Given the description of an element on the screen output the (x, y) to click on. 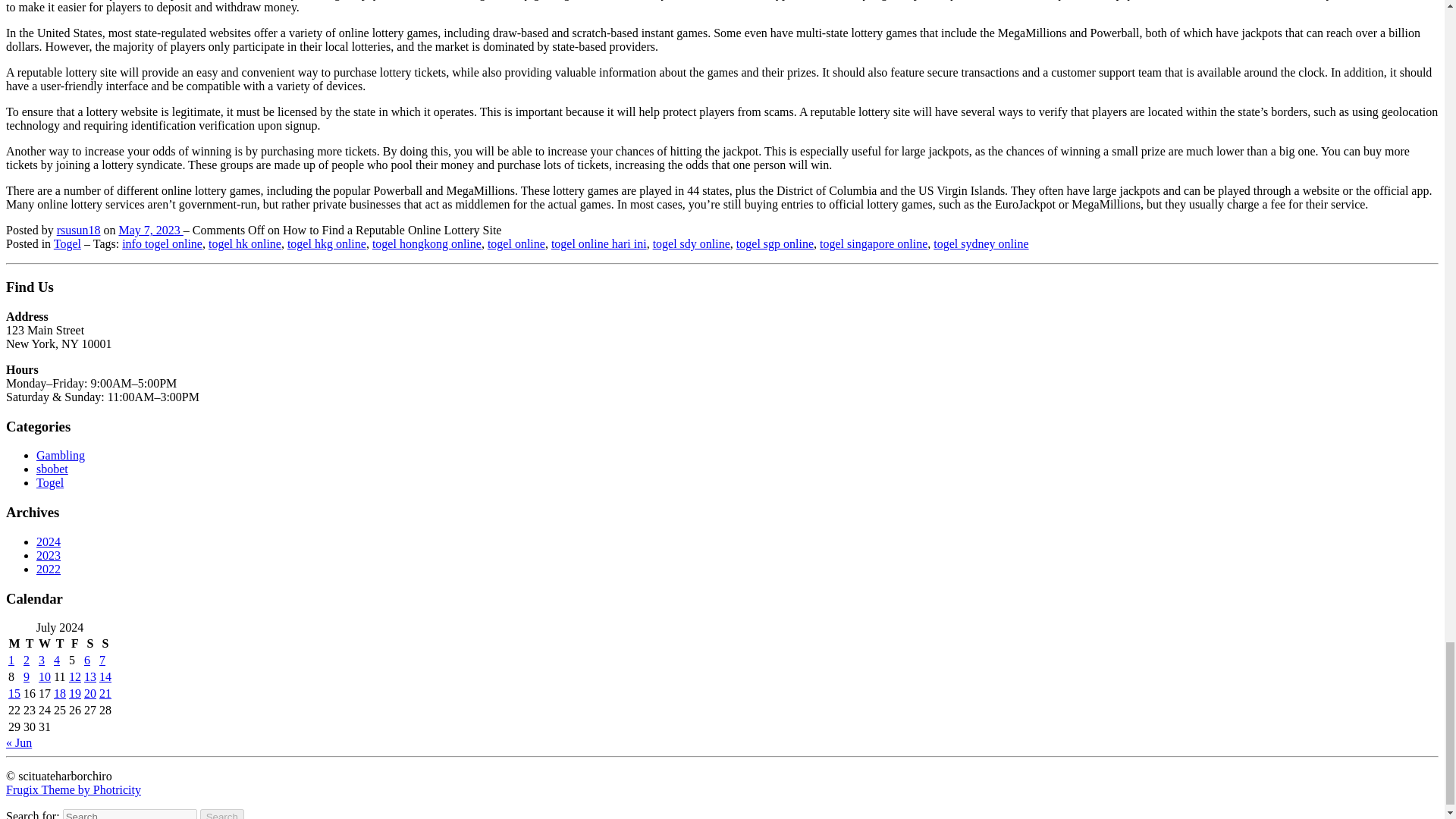
togel hongkong online (426, 243)
sbobet (52, 468)
Monday (14, 643)
togel hkg online (326, 243)
Wednesday (43, 643)
Tuesday (29, 643)
togel sdy online (691, 243)
Sunday (105, 643)
rsusun18 (78, 229)
togel hk online (244, 243)
15 (14, 693)
Saturday (89, 643)
Gambling (60, 454)
info togel online (162, 243)
Togel (67, 243)
